Given the description of an element on the screen output the (x, y) to click on. 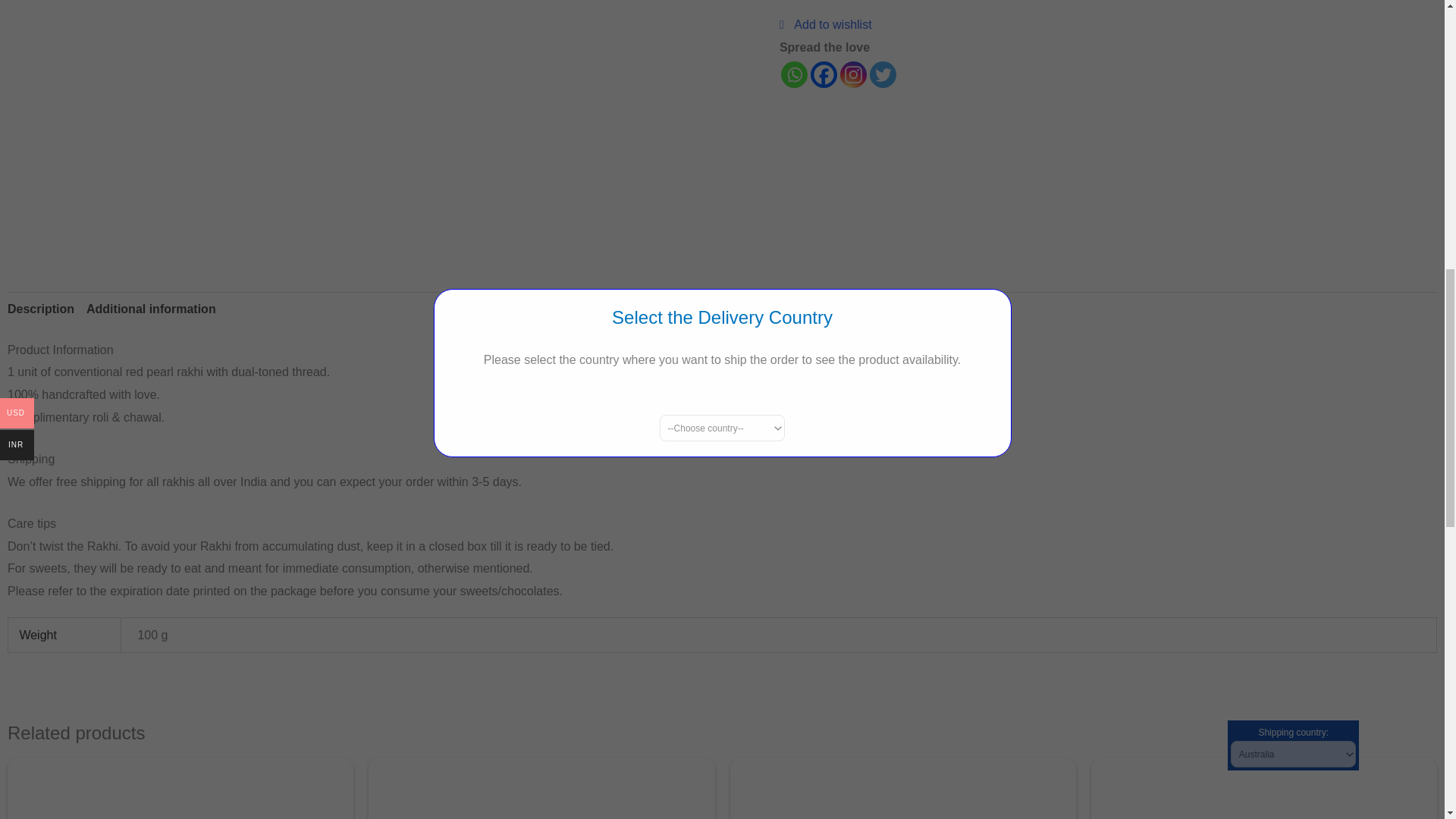
Metallic Gold Pearl Rakhi With Designer Thread (541, 788)
Facebook (823, 74)
Tulsi and pearl beads Set of 2 Rakhis (902, 788)
Whatsapp (794, 74)
Colors of the sun Rakhi (180, 788)
Instagram (853, 74)
Evil Eye Rakhi (1263, 788)
Twitter (882, 74)
